Given the description of an element on the screen output the (x, y) to click on. 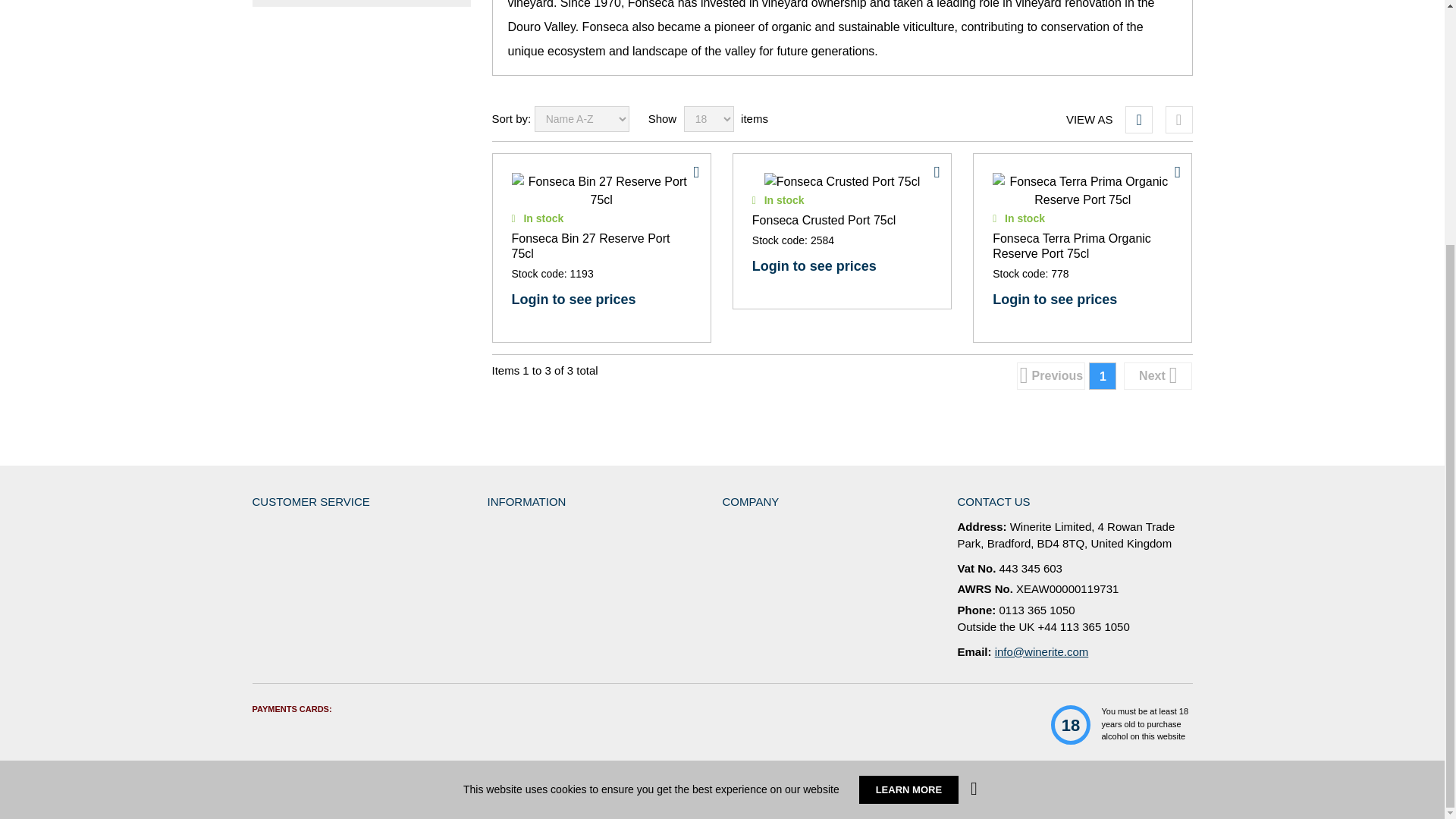
Fonseca Bin 27 Reserve Port 75cl (600, 190)
Fonseca Terra Prima Organic Reserve Port 75cl (1082, 190)
Fonseca Crusted Port 75cl (842, 181)
